Given the description of an element on the screen output the (x, y) to click on. 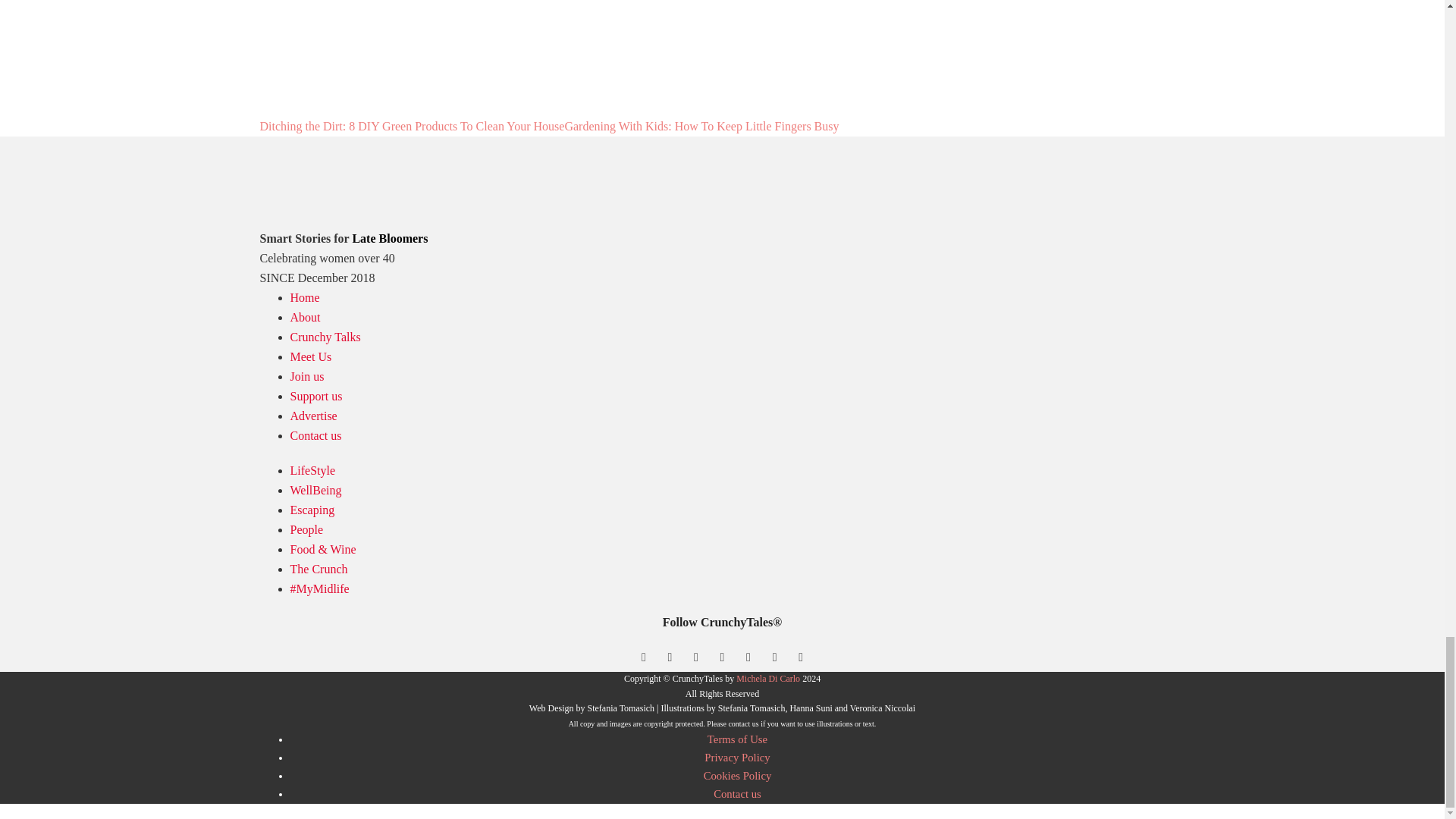
Join CrunchyTales (306, 376)
A digital illustrated magazine for women over 40 (303, 297)
Meet the CrunchyTales Team (310, 356)
